Given the description of an element on the screen output the (x, y) to click on. 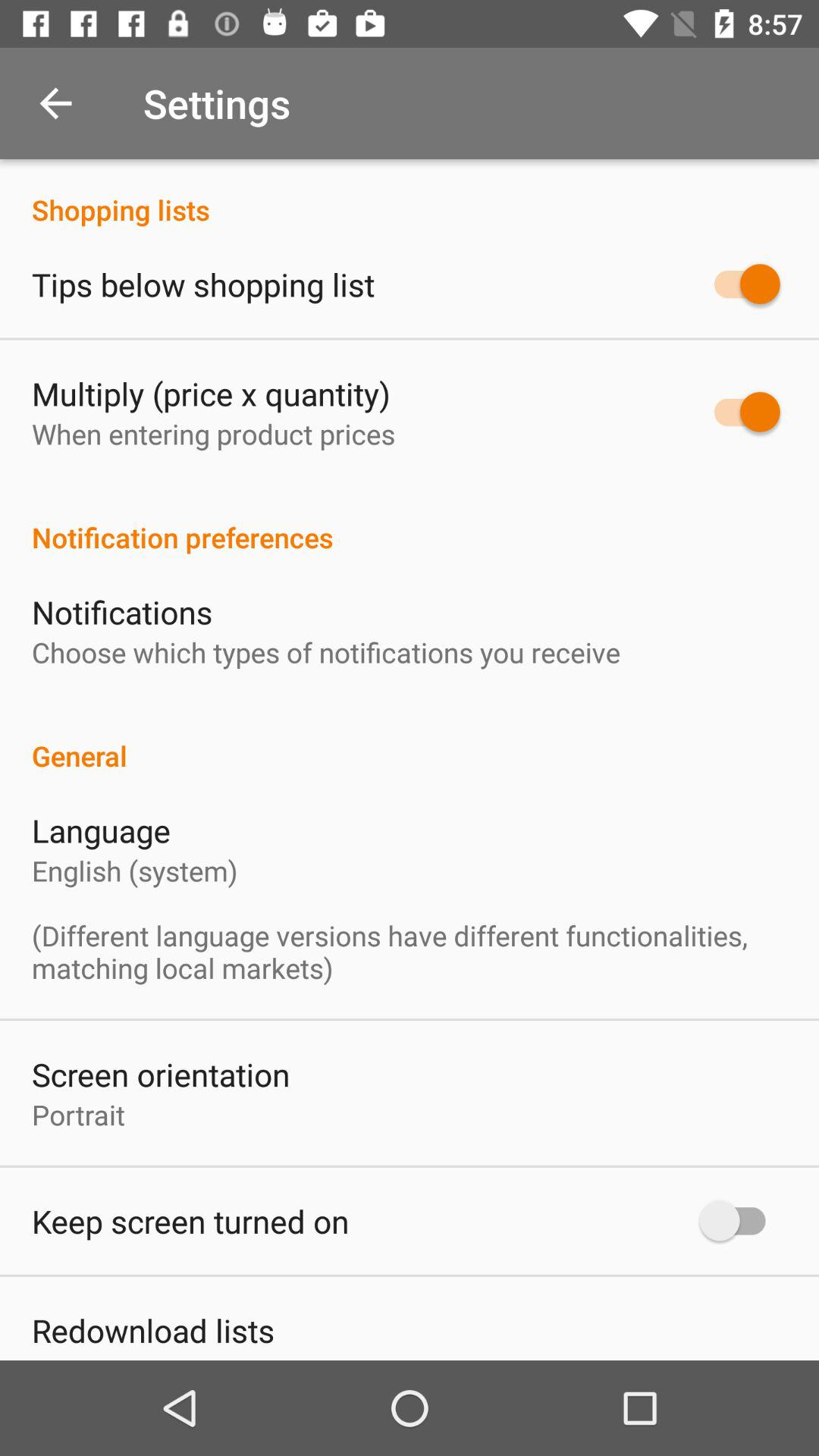
flip until when entering product icon (213, 433)
